Given the description of an element on the screen output the (x, y) to click on. 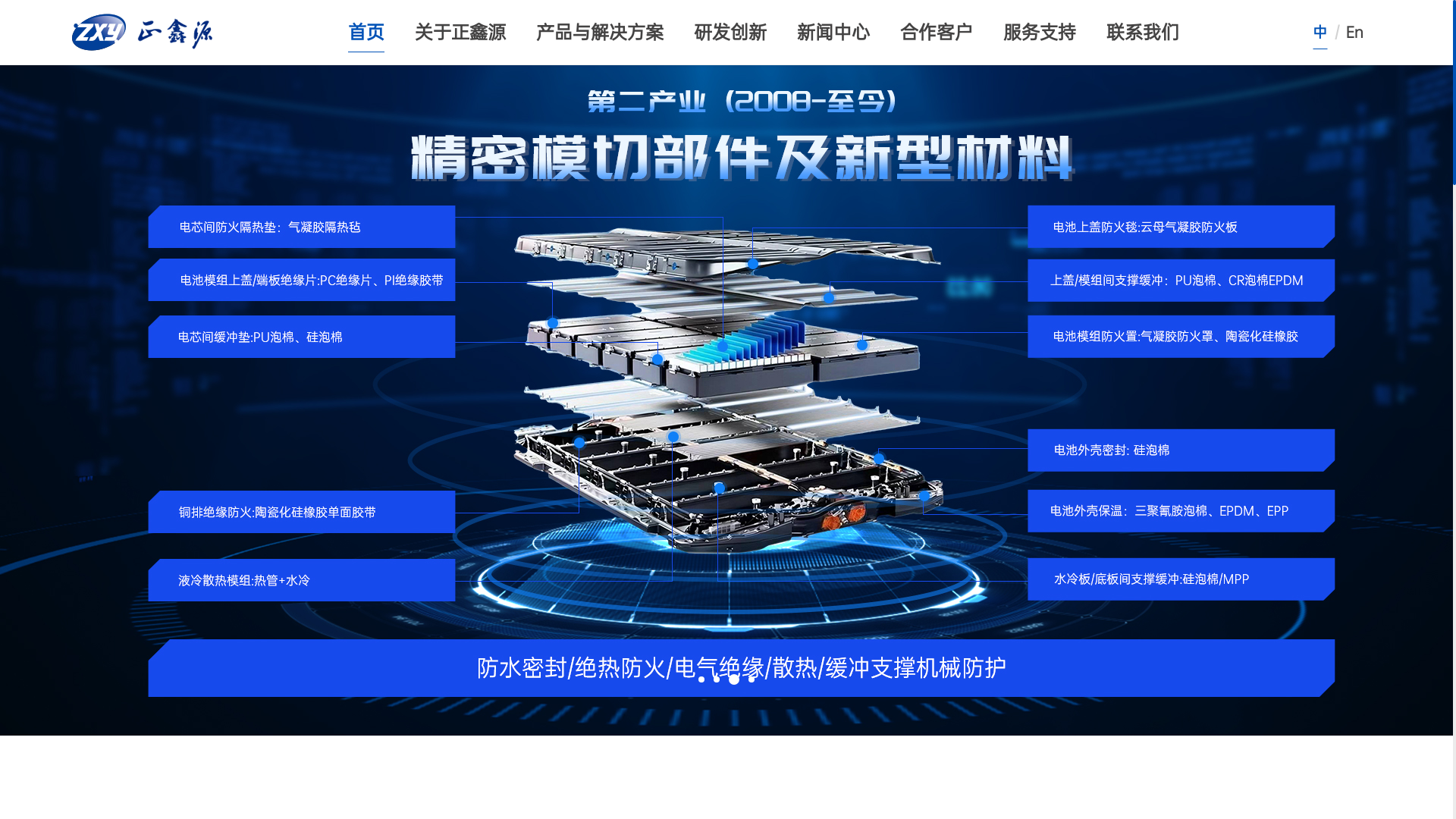
En Element type: text (1354, 31)
